Given the description of an element on the screen output the (x, y) to click on. 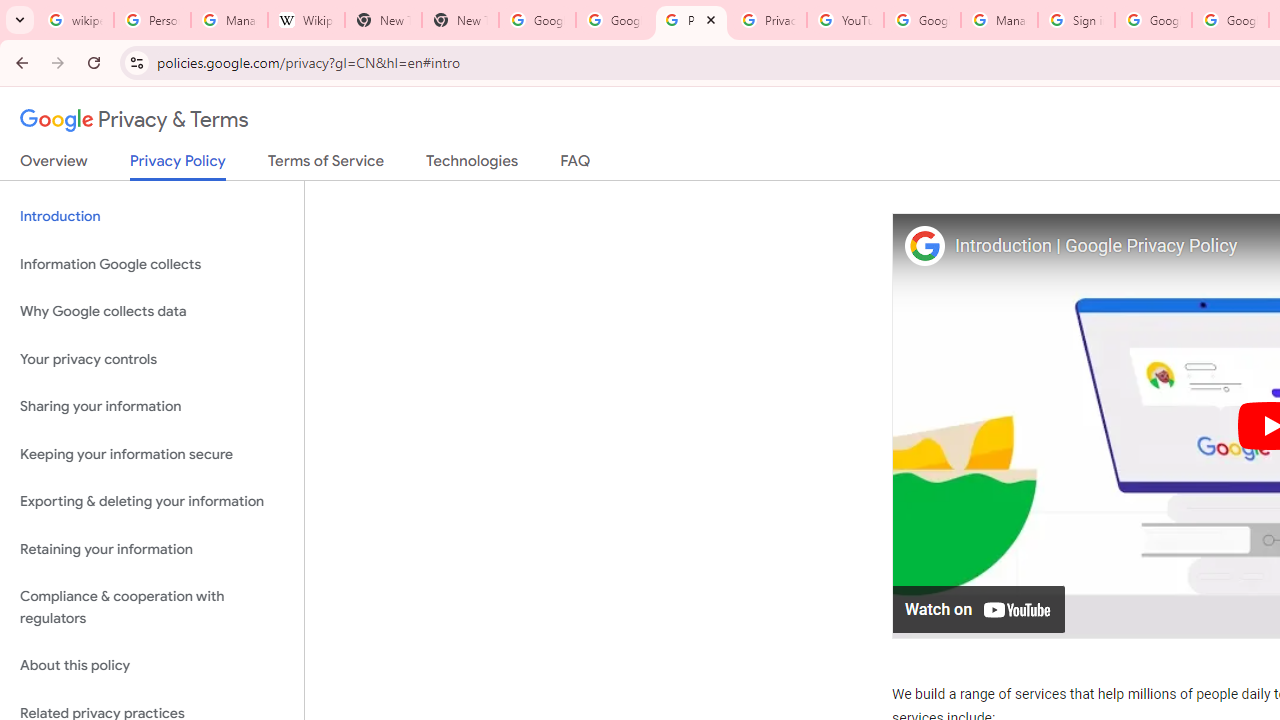
Compliance & cooperation with regulators (152, 607)
Retaining your information (152, 548)
Sign in - Google Accounts (1076, 20)
Personalization & Google Search results - Google Search Help (151, 20)
Why Google collects data (152, 312)
Keeping your information secure (152, 453)
Information Google collects (152, 263)
Sharing your information (152, 407)
